Given the description of an element on the screen output the (x, y) to click on. 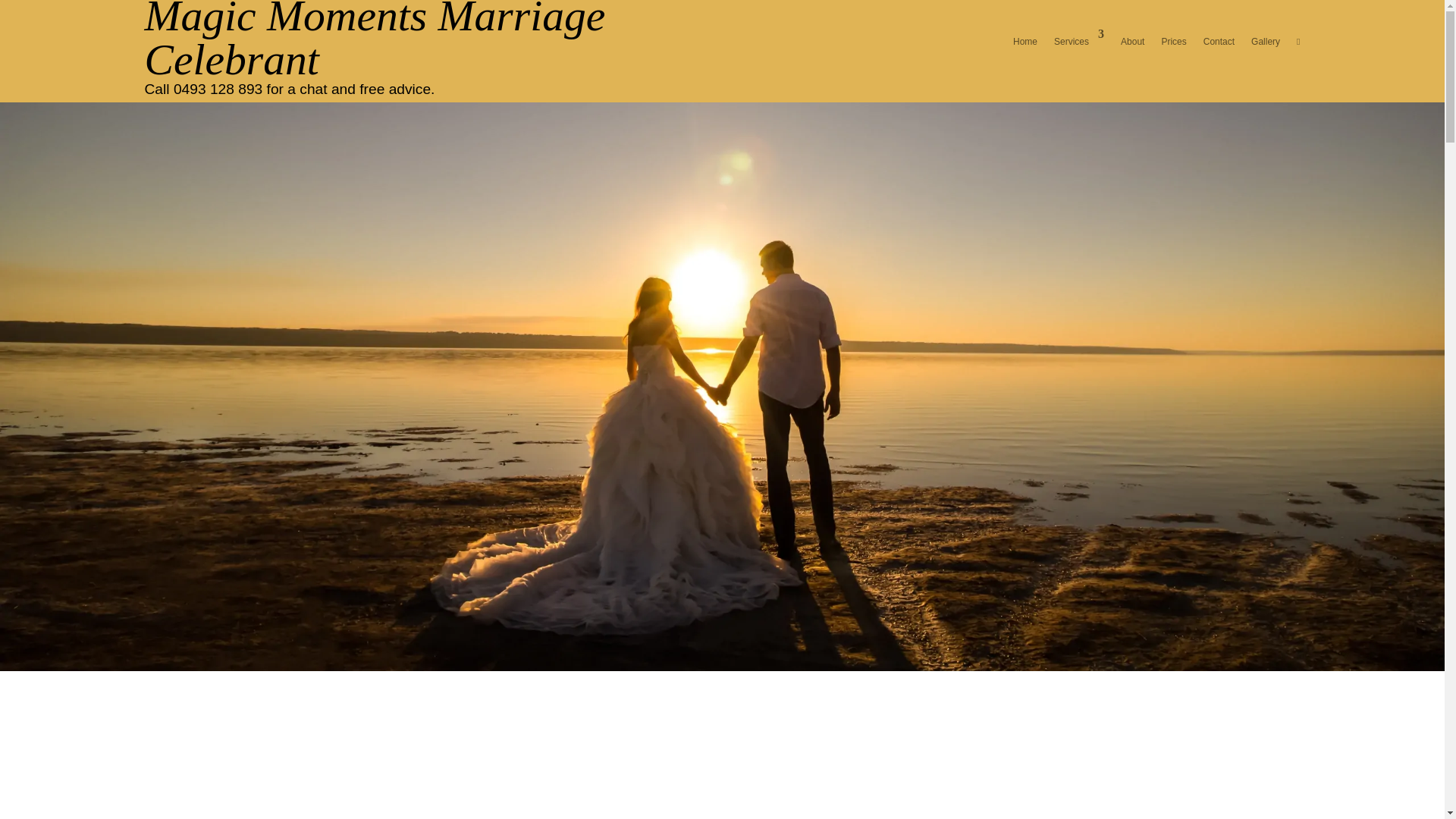
Home (1024, 40)
Contact (1219, 40)
Prices (1173, 40)
About (1132, 40)
Services (1078, 40)
Gallery (1264, 40)
